Given the description of an element on the screen output the (x, y) to click on. 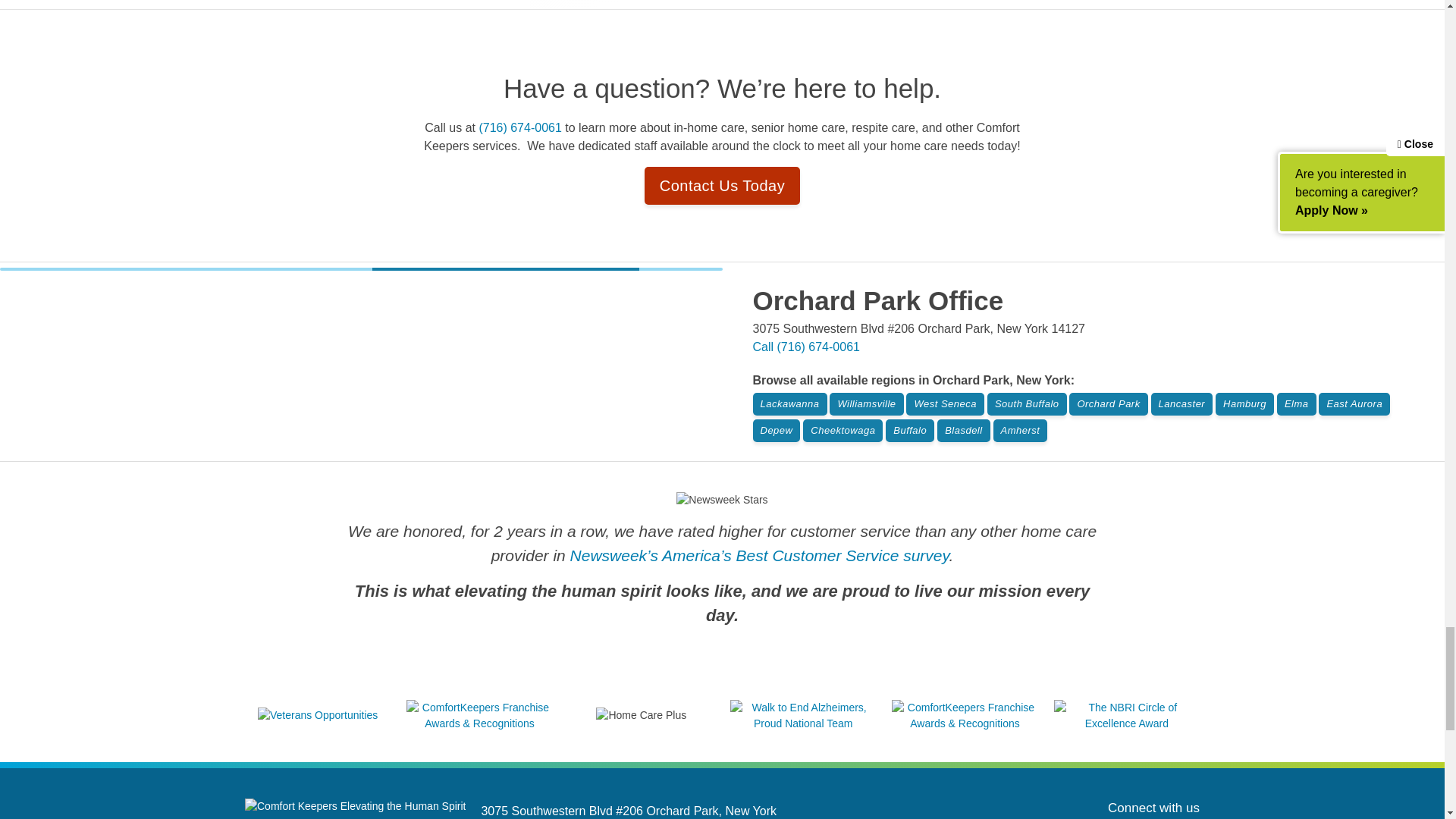
Learn more about the NBRI Circle of Excellence Award (1126, 723)
Call Us (805, 346)
Walk to End Alzheimers, Proud National Team (803, 723)
Veterans Opportunities (317, 715)
